Given the description of an element on the screen output the (x, y) to click on. 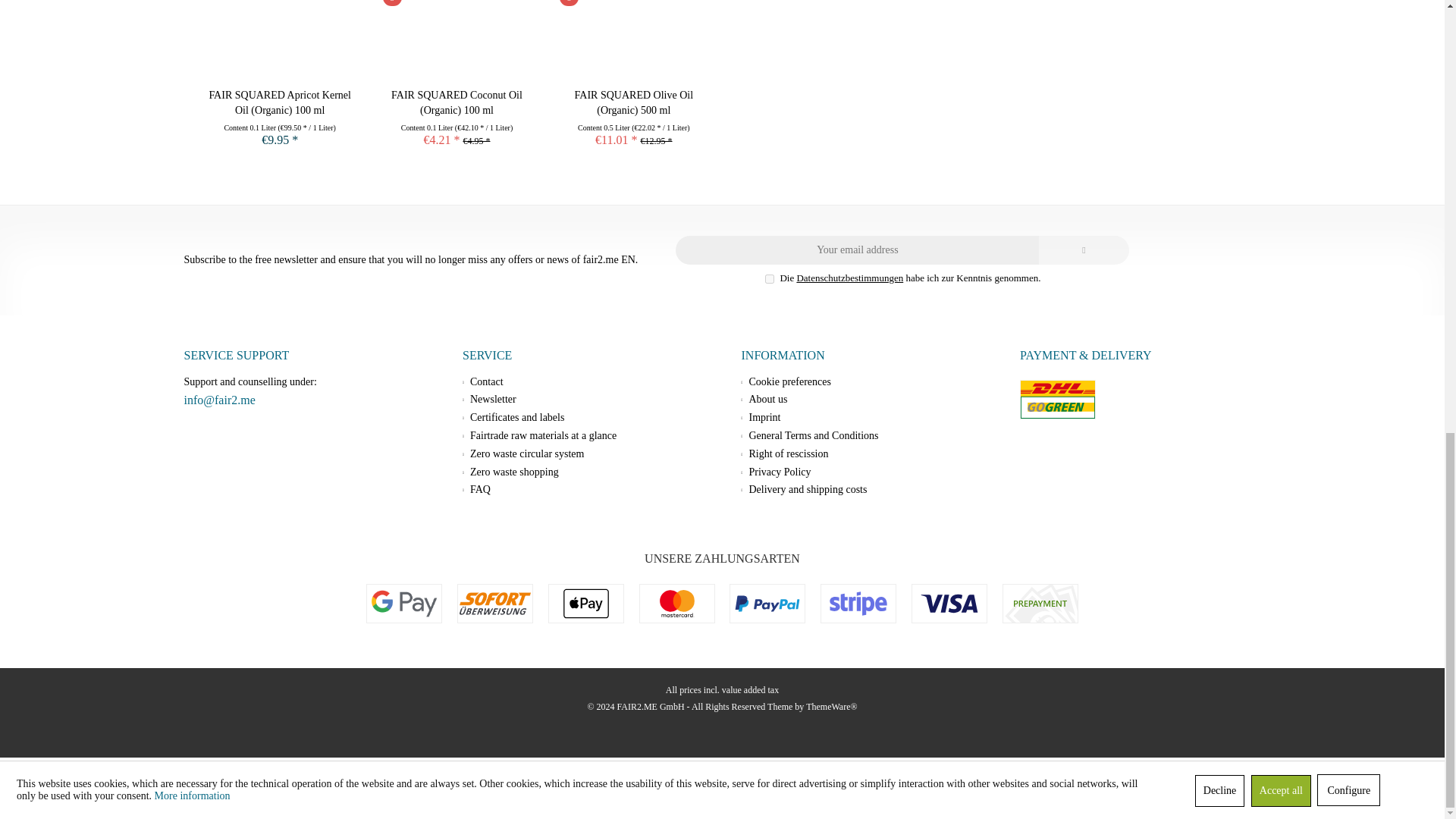
on (769, 278)
